Given the description of an element on the screen output the (x, y) to click on. 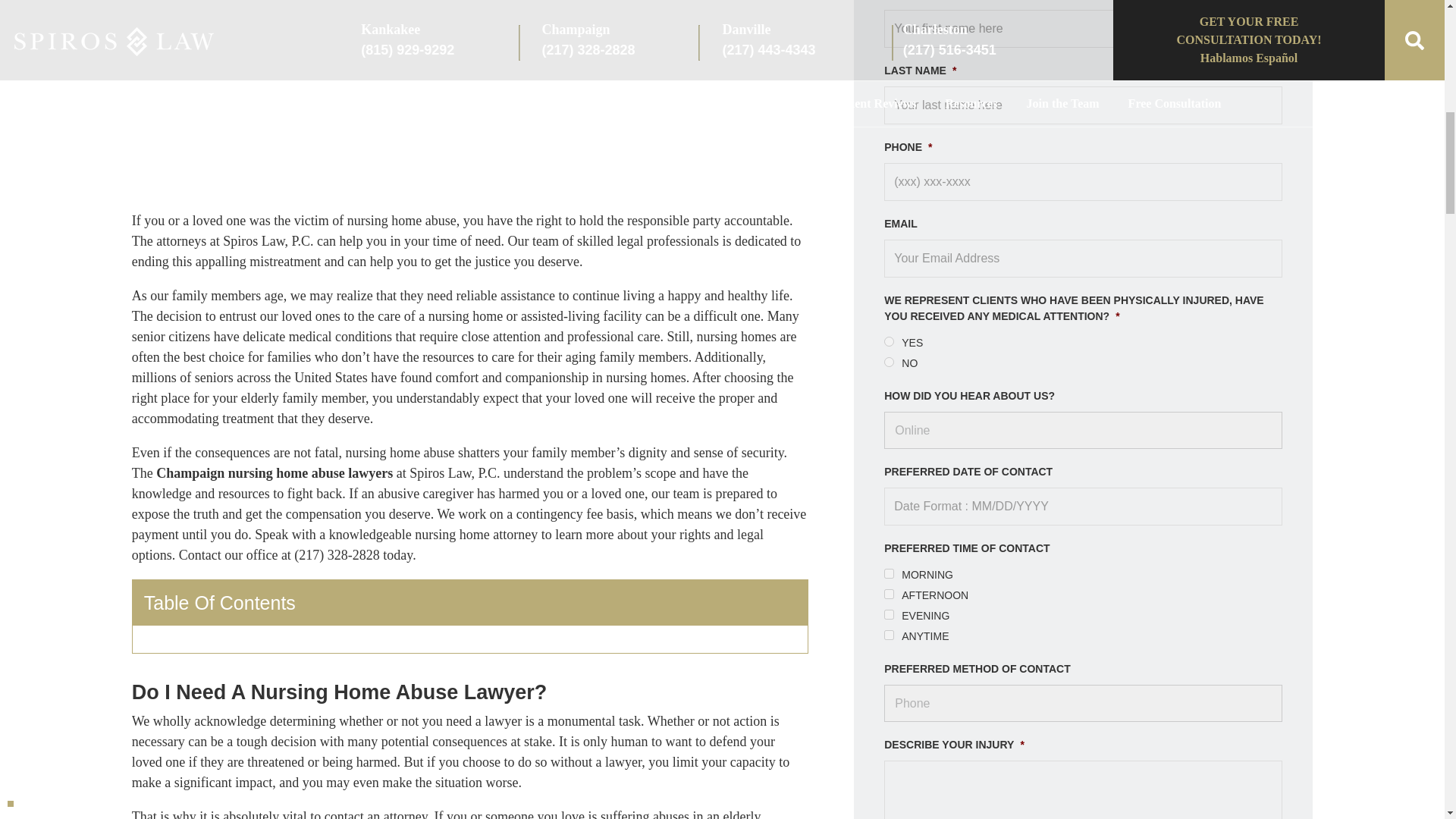
Afternoon (888, 593)
Yes (888, 341)
No (888, 361)
Anytime (888, 634)
Evening (888, 614)
Morning (888, 573)
